Given the description of an element on the screen output the (x, y) to click on. 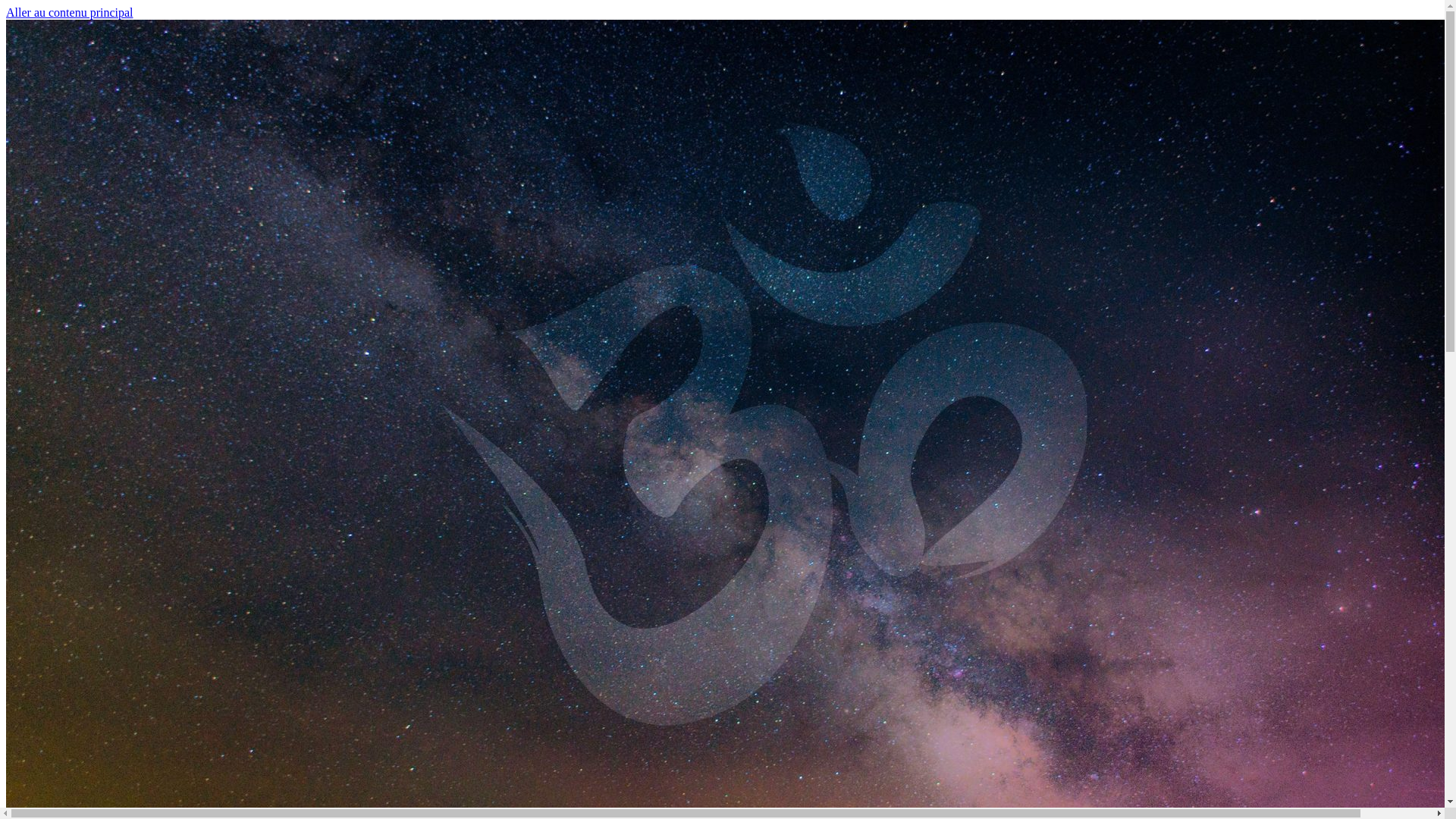
Aller au contenu principal Element type: text (69, 12)
